Given the description of an element on the screen output the (x, y) to click on. 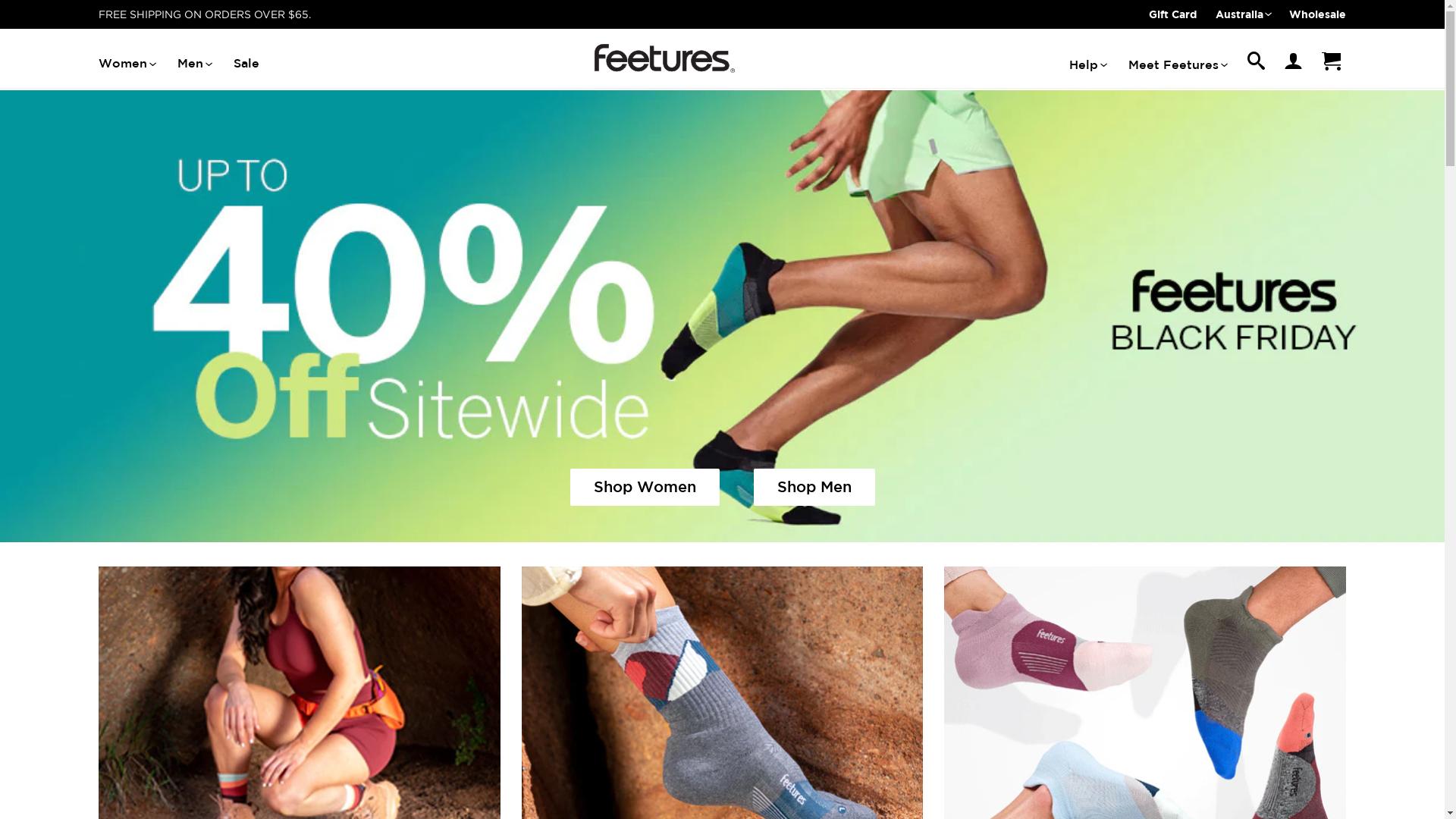
Wholesale Element type: text (1317, 13)
Log In Element type: text (1292, 63)
Men Element type: text (193, 63)
Shop Women Element type: text (644, 486)
Search Element type: text (1255, 64)
Sale Element type: text (245, 63)
Shop Men Element type: text (814, 486)
Women Element type: text (126, 63)
Help Element type: text (1087, 64)
Meet Feetures Element type: text (1176, 64)
Gift Card Element type: text (1172, 13)
Cart Element type: text (1330, 63)
FREE SHIPPING ON ORDERS OVER $65. Element type: text (204, 13)
